Given the description of an element on the screen output the (x, y) to click on. 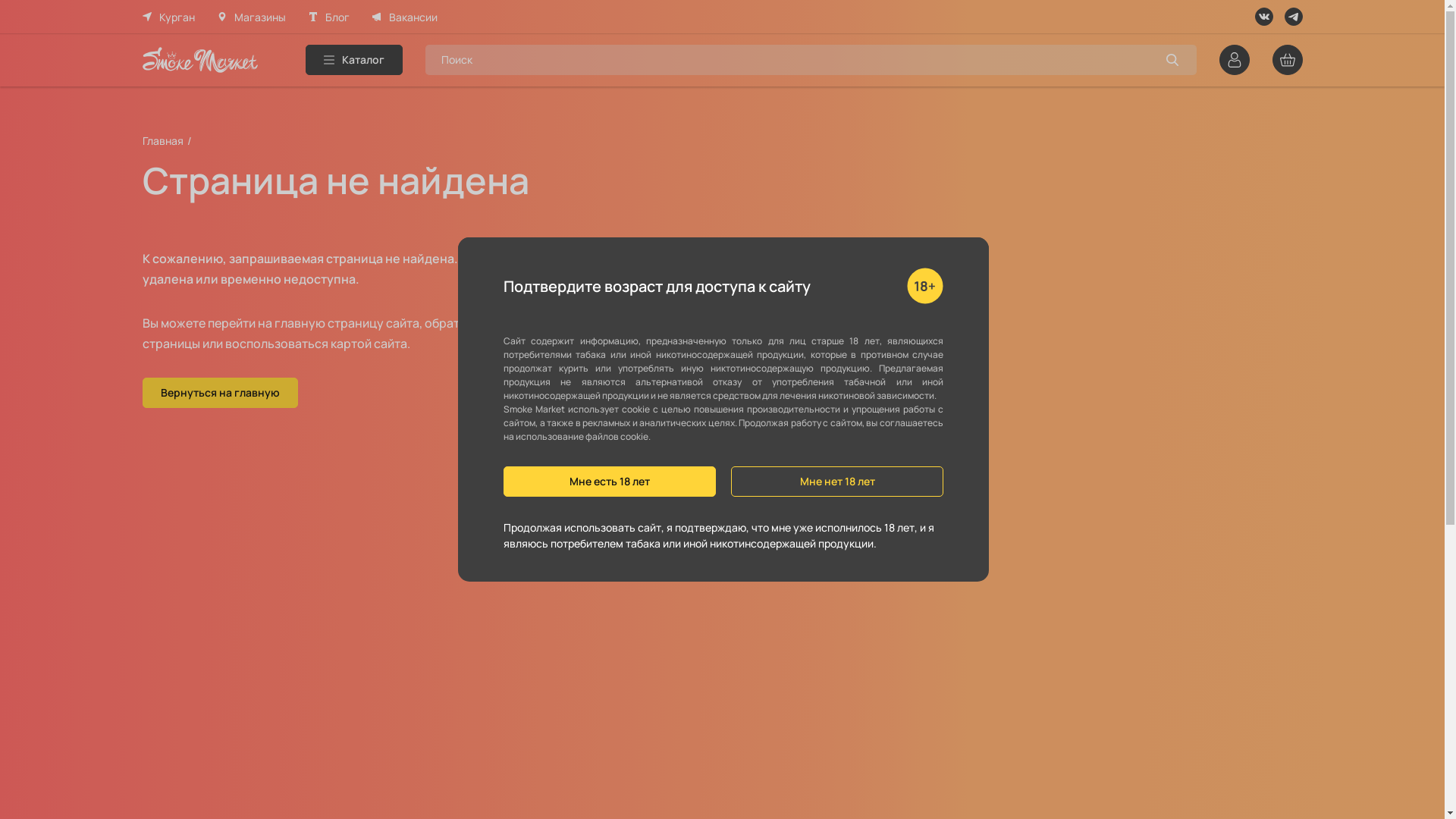
Telegram Element type: hover (1293, 16)
